Given the description of an element on the screen output the (x, y) to click on. 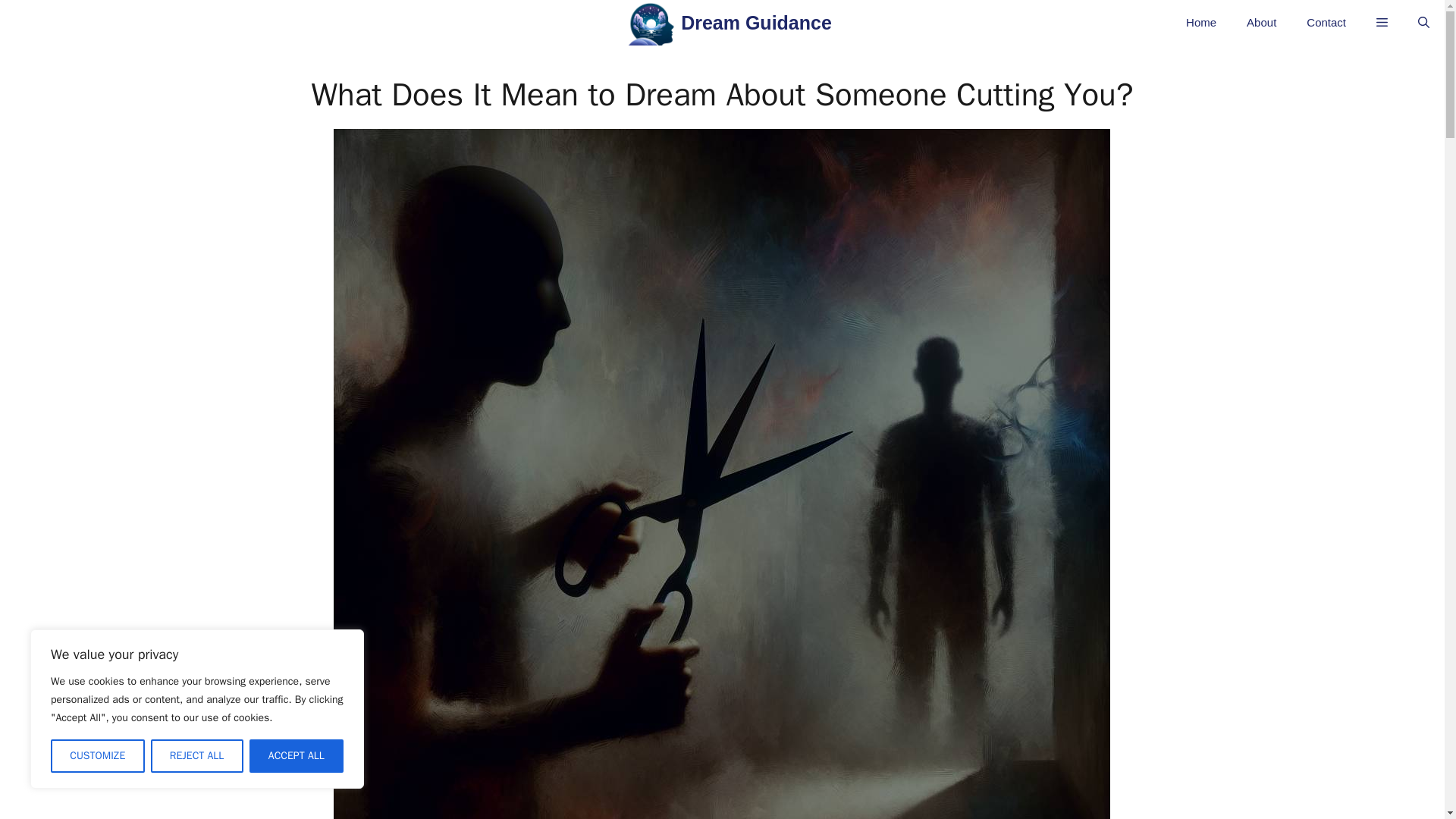
Dream Guidance (756, 26)
Contact (1326, 22)
Home (1200, 22)
CUSTOMIZE (97, 756)
About (1261, 22)
REJECT ALL (196, 756)
ACCEPT ALL (295, 756)
